Given the description of an element on the screen output the (x, y) to click on. 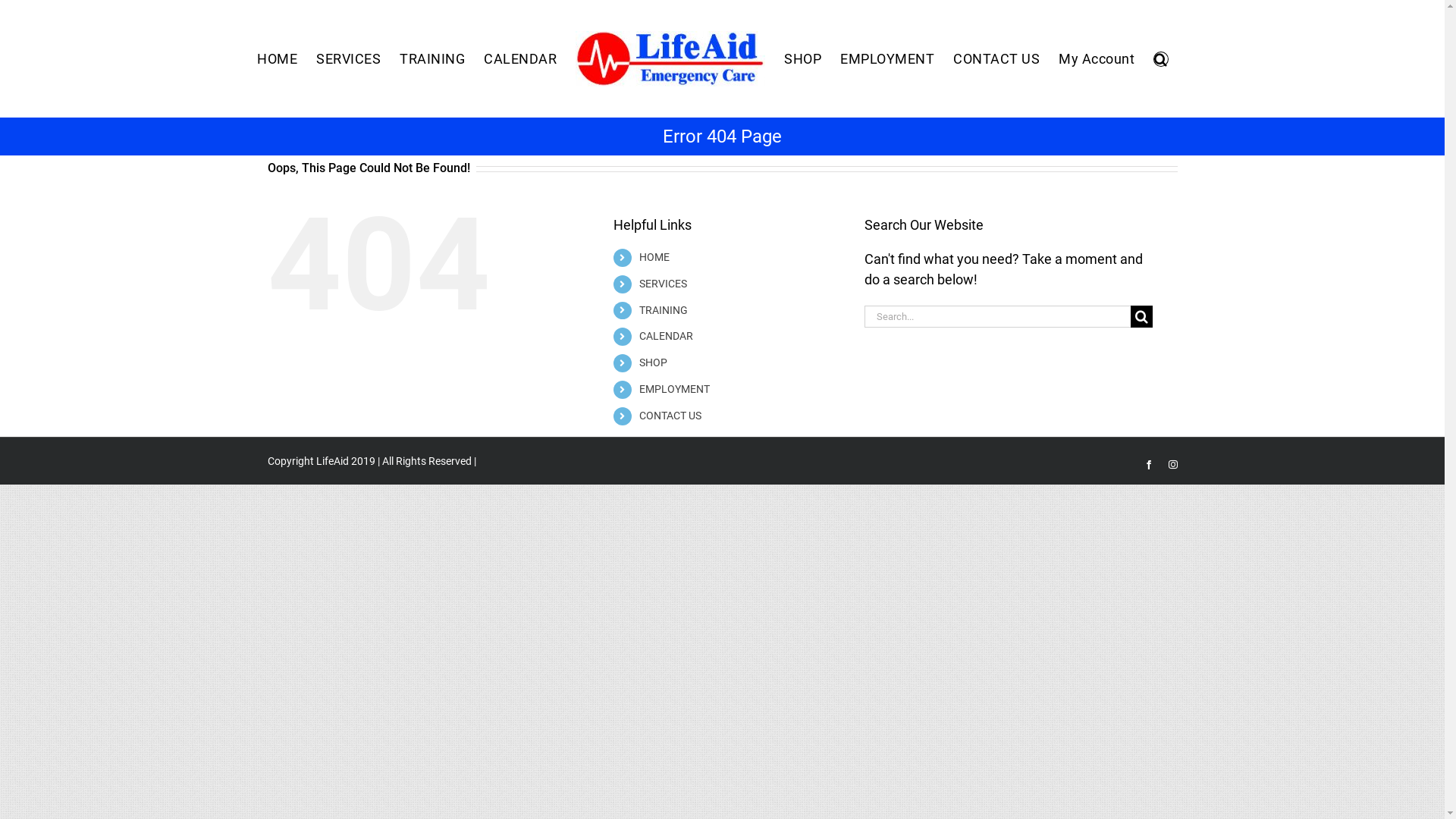
CONTACT US Element type: text (996, 58)
My Account Element type: text (1096, 58)
SHOP Element type: text (653, 362)
CONTACT US Element type: text (670, 415)
HOME Element type: text (654, 257)
TRAINING Element type: text (663, 310)
Facebook Element type: text (1147, 464)
HOME Element type: text (277, 58)
EMPLOYMENT Element type: text (674, 388)
SERVICES Element type: text (348, 58)
Search Element type: hover (1160, 58)
CALENDAR Element type: text (666, 335)
SHOP Element type: text (802, 58)
Log In Element type: text (1156, 197)
CALENDAR Element type: text (519, 58)
TRAINING Element type: text (431, 58)
EMPLOYMENT Element type: text (887, 58)
Instagram Element type: text (1171, 464)
SERVICES Element type: text (663, 283)
